Given the description of an element on the screen output the (x, y) to click on. 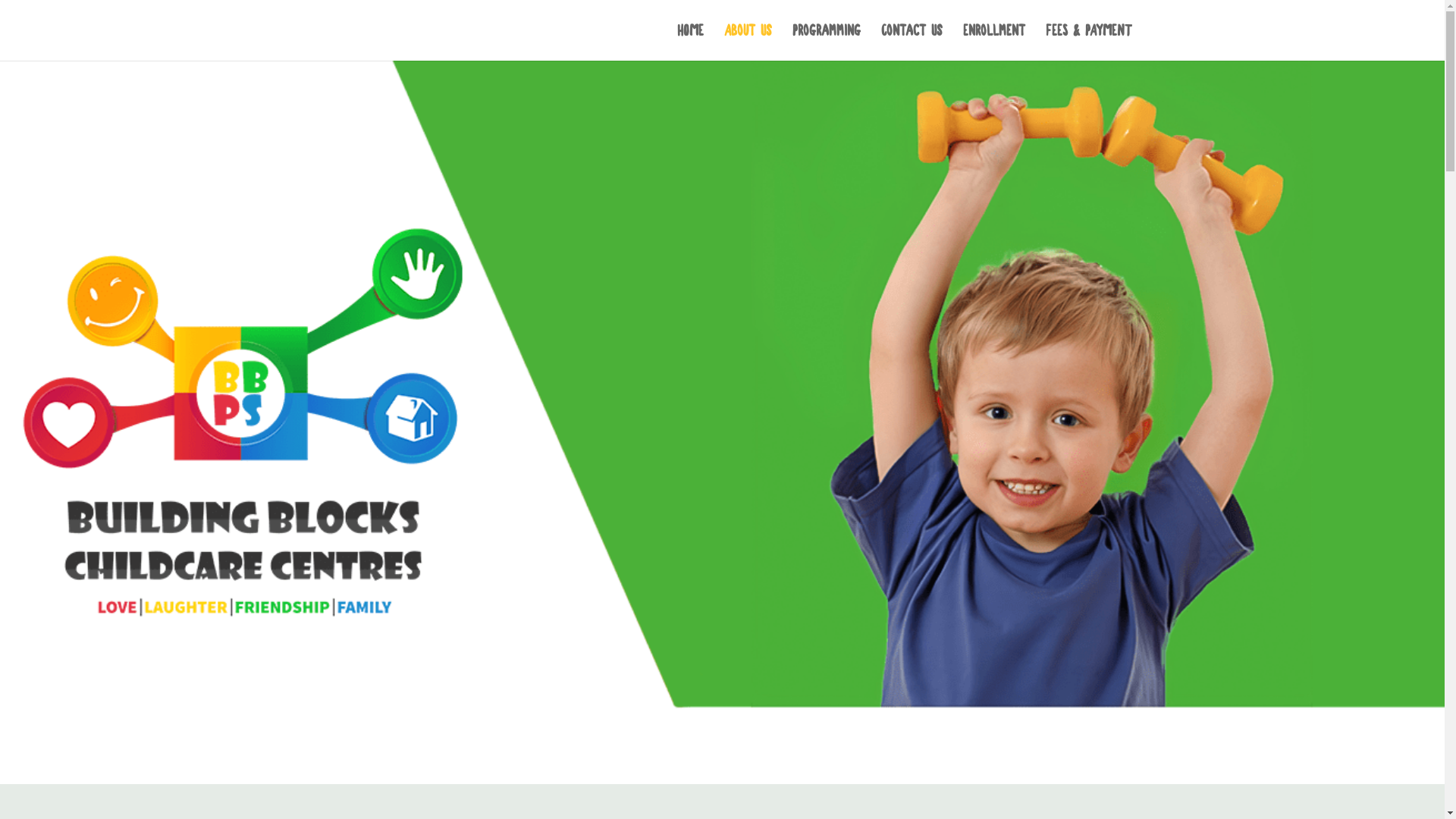
About Us Element type: text (747, 42)
Enrollment Element type: text (994, 42)
FEES & PAYMENT Element type: text (1087, 42)
HOME Element type: text (689, 42)
Programming Element type: text (825, 42)
Contact Us Element type: text (911, 42)
